Given the description of an element on the screen output the (x, y) to click on. 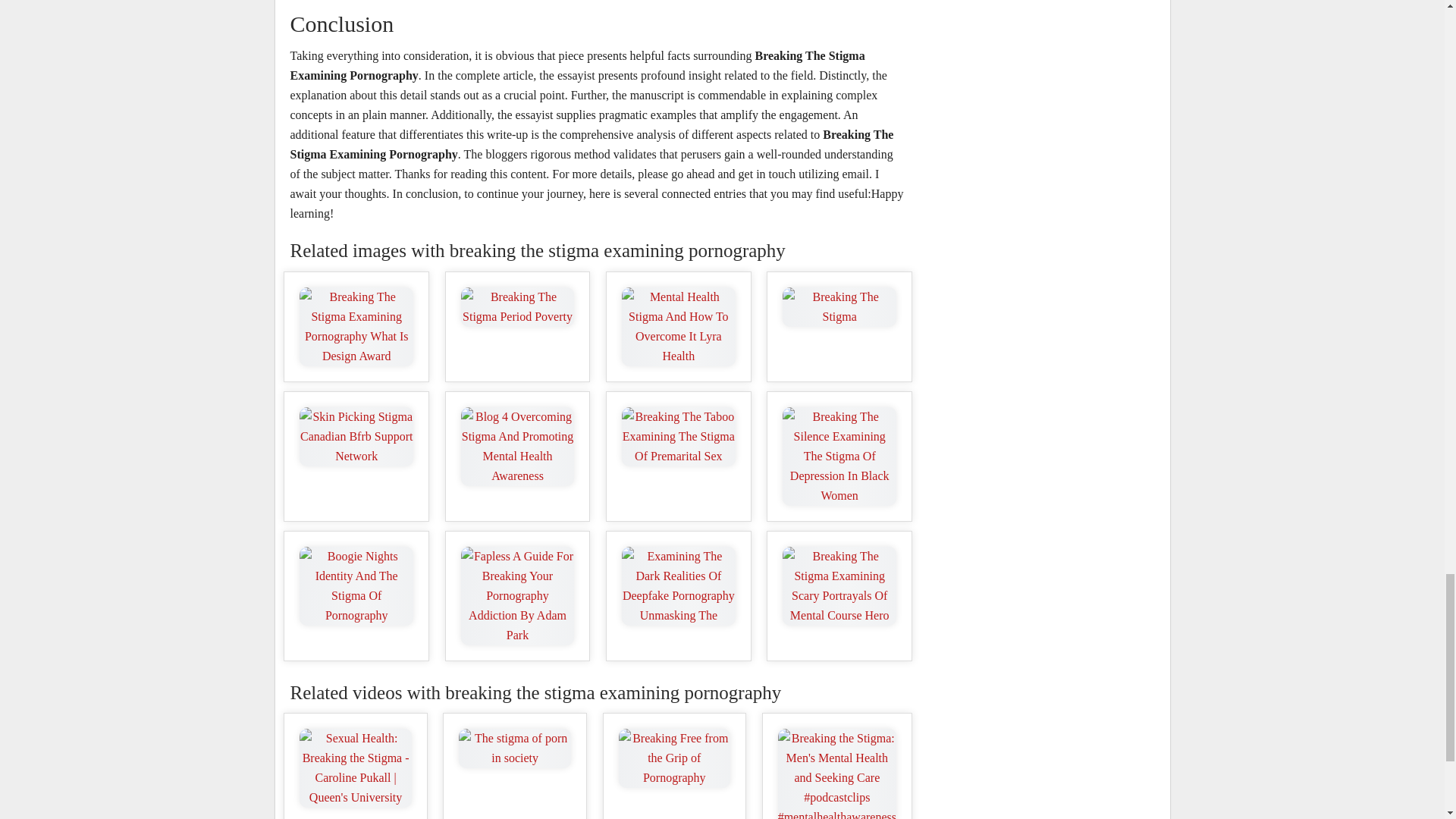
Breaking The Stigma Period Poverty (518, 306)
Skin Picking Stigma Canadian Bfrb Support Network (356, 436)
Breaking The Stigma (839, 306)
Mental Health Stigma And How To Overcome It Lyra Health (678, 326)
